Given the description of an element on the screen output the (x, y) to click on. 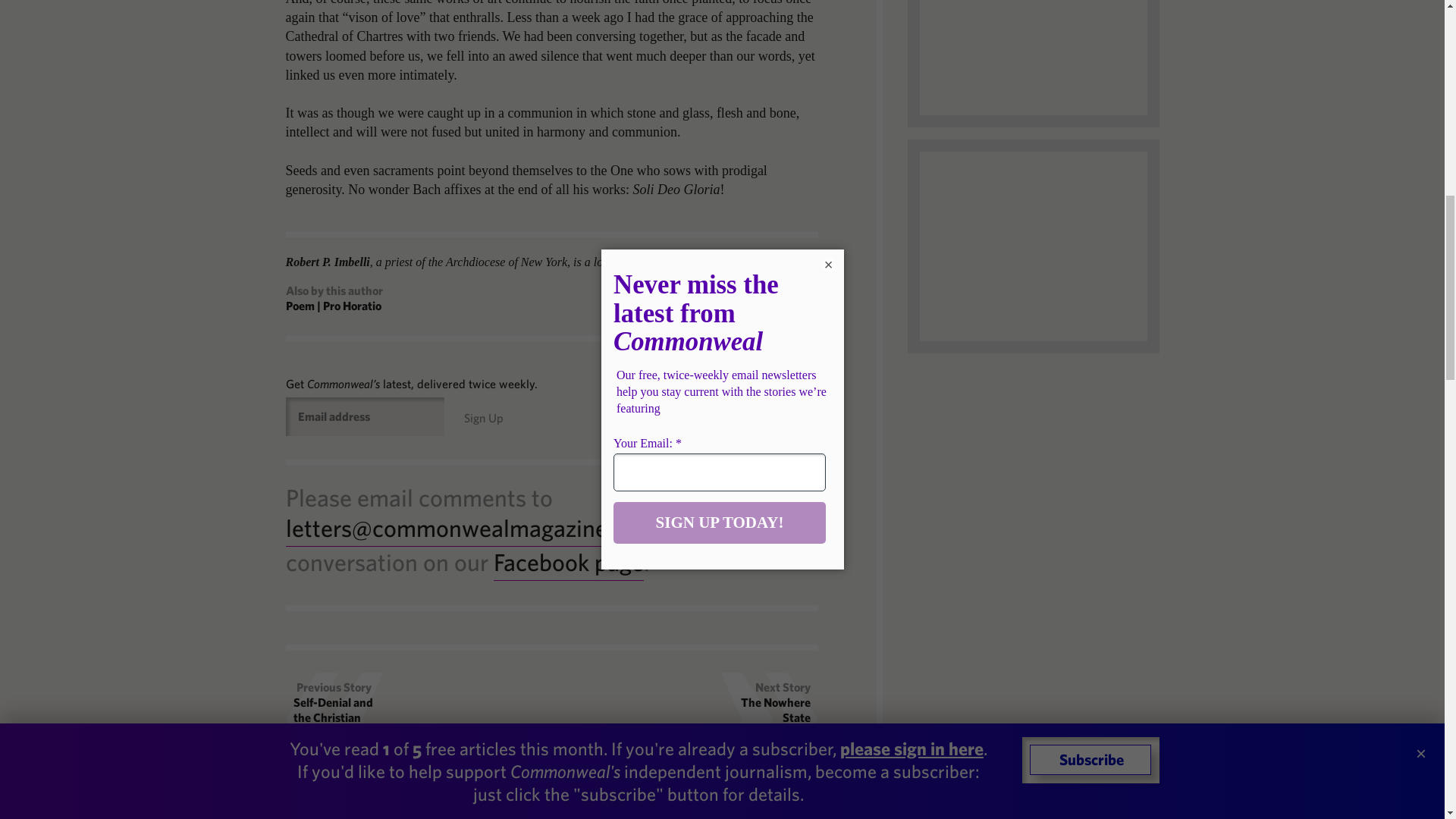
Facebook page (568, 563)
3rd party ad content (1032, 57)
Sign Up (484, 417)
Self-Denial and the Christian (333, 709)
3rd party ad content (1032, 246)
Sign Up (484, 417)
